Given the description of an element on the screen output the (x, y) to click on. 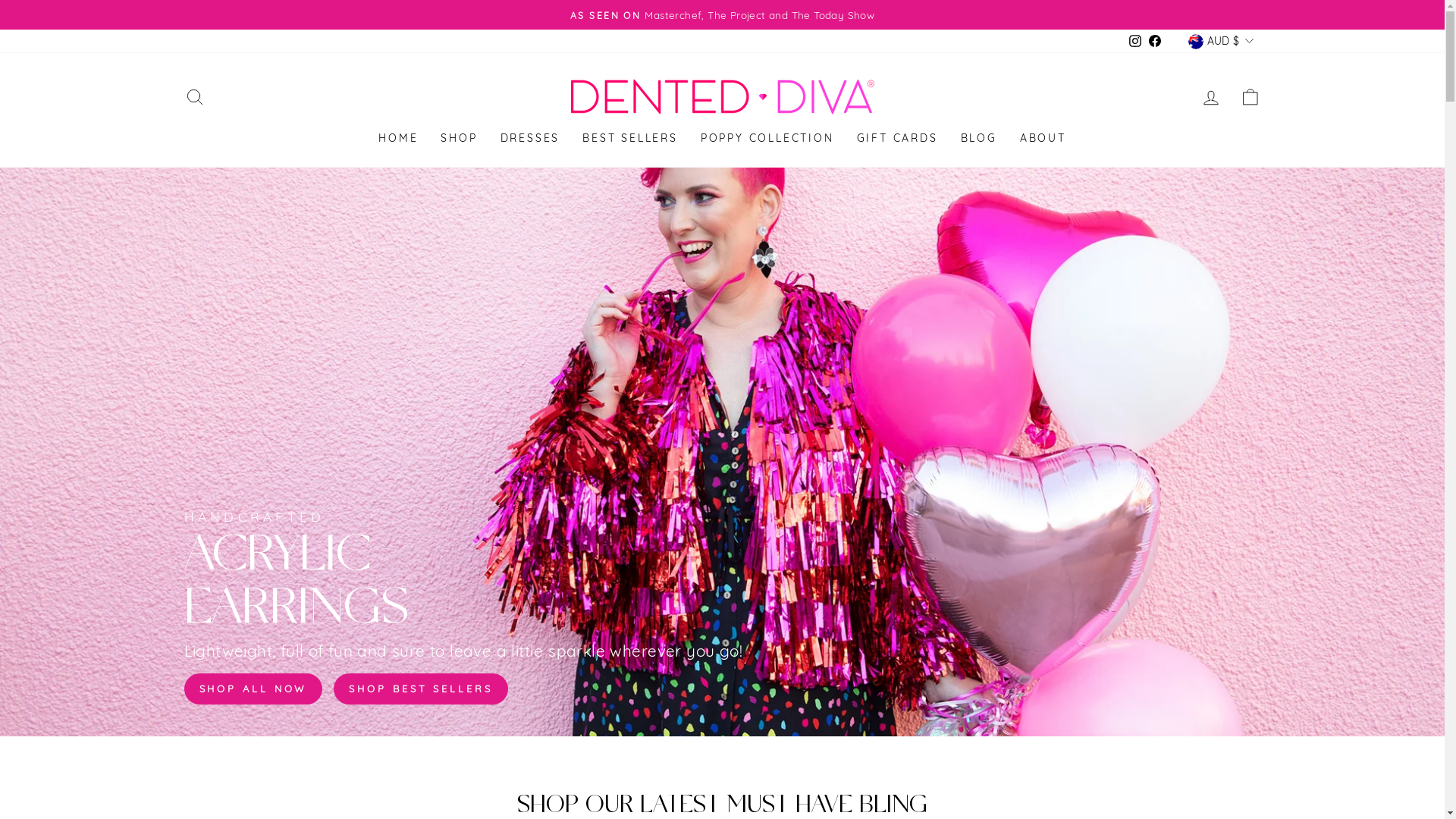
BLOG Element type: text (978, 138)
Facebook Element type: text (1154, 41)
SHOP BEST SELLERS Element type: text (420, 688)
DRESSES Element type: text (530, 138)
POPPY COLLECTION Element type: text (767, 138)
Instagram Element type: text (1135, 41)
SEARCH Element type: text (193, 96)
AUD $ Element type: text (1220, 40)
GIFT CARDS Element type: text (897, 138)
HOME Element type: text (398, 138)
LOG IN Element type: text (1210, 96)
SHOP ALL NOW Element type: text (252, 688)
CART Element type: text (1249, 96)
BEST SELLERS Element type: text (630, 138)
Skip to content Element type: text (0, 0)
ABOUT Element type: text (1042, 138)
SHOP Element type: text (458, 138)
